Given the description of an element on the screen output the (x, y) to click on. 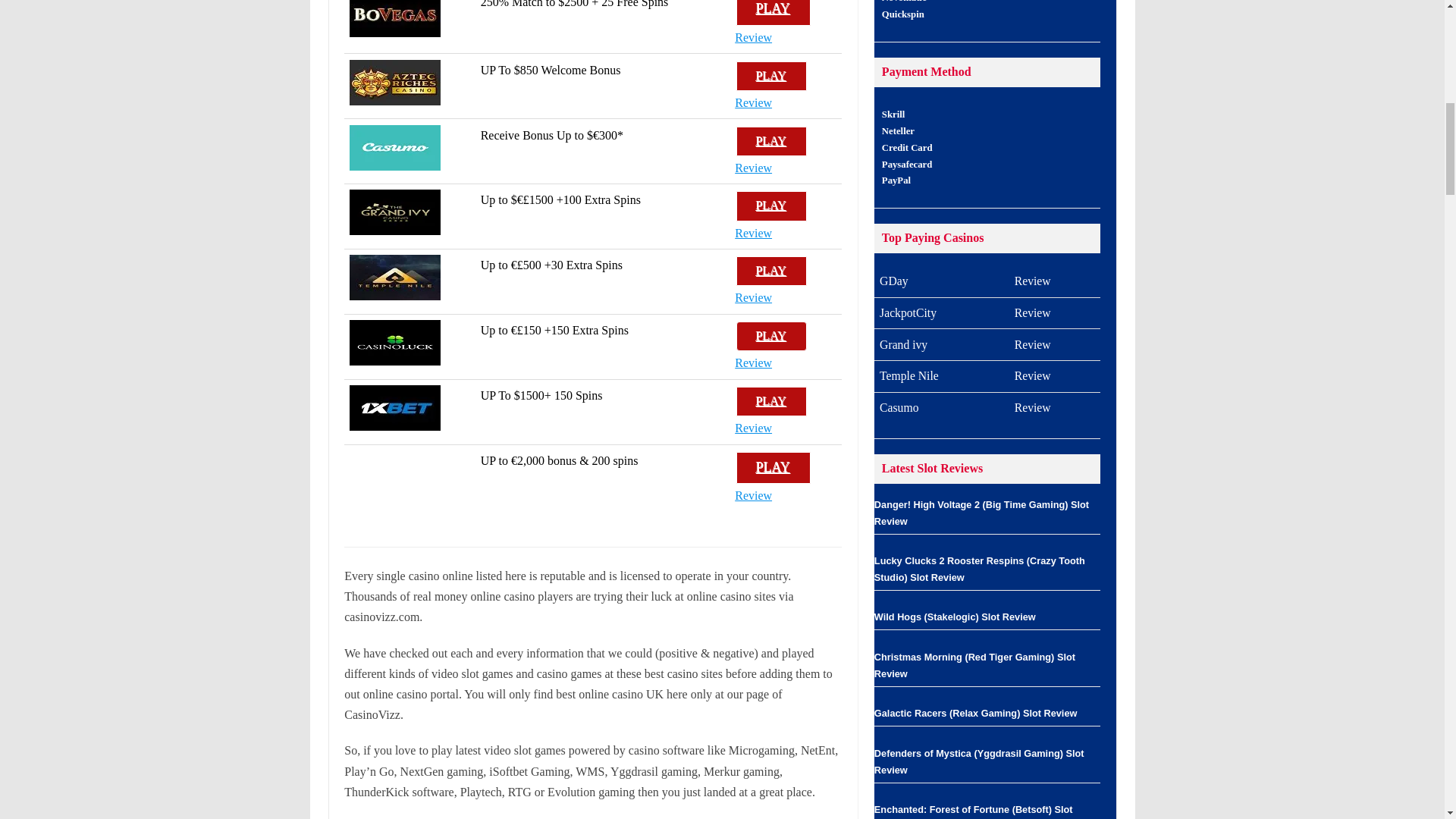
Review (753, 37)
PLAY (771, 141)
Review (753, 102)
PLAY (771, 75)
Review (753, 167)
Review (753, 102)
PLAY (772, 12)
Review (753, 427)
